Given the description of an element on the screen output the (x, y) to click on. 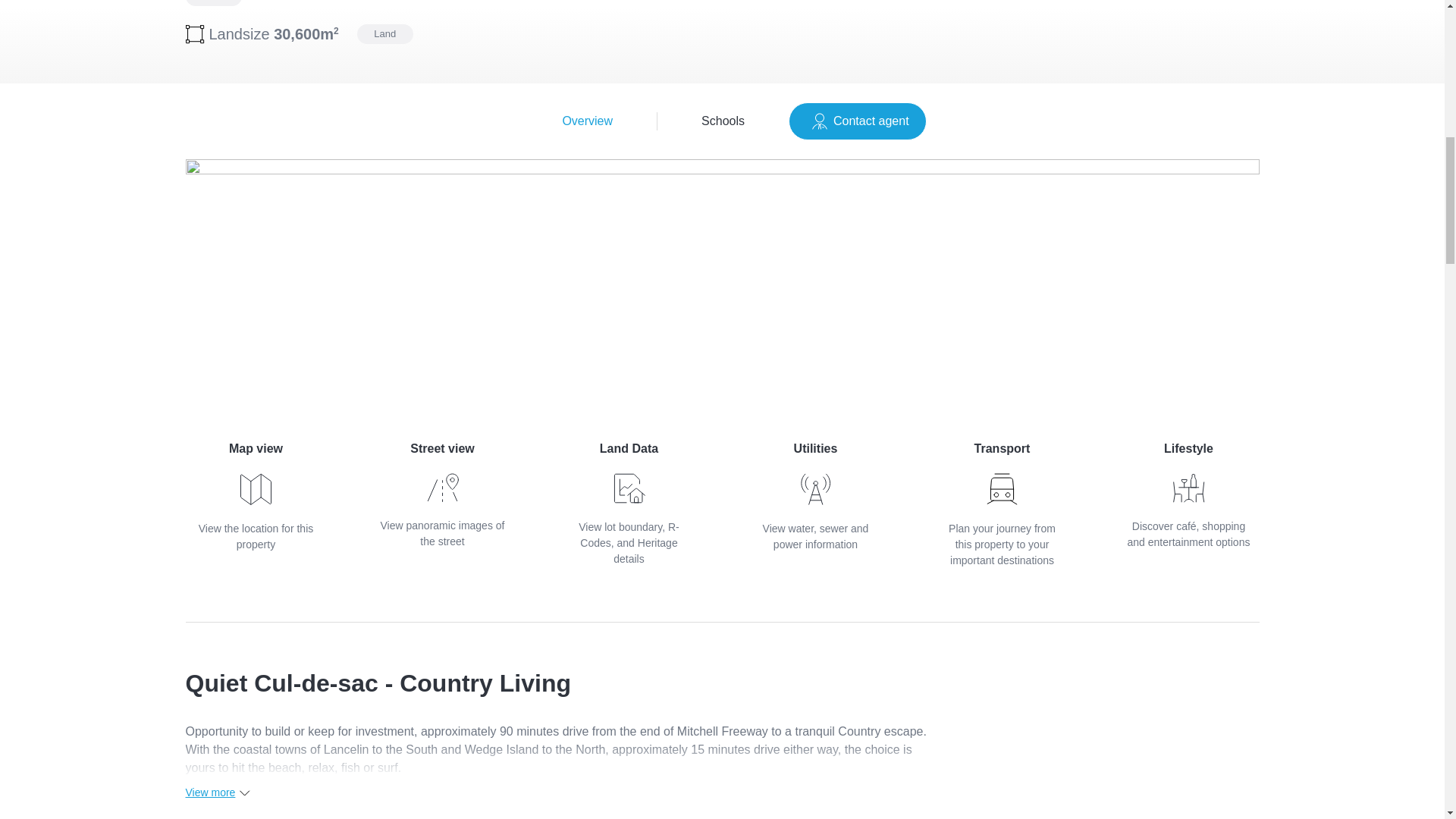
Contact agent (721, 121)
View more (441, 495)
Schools (255, 496)
Overview (857, 121)
